Given the description of an element on the screen output the (x, y) to click on. 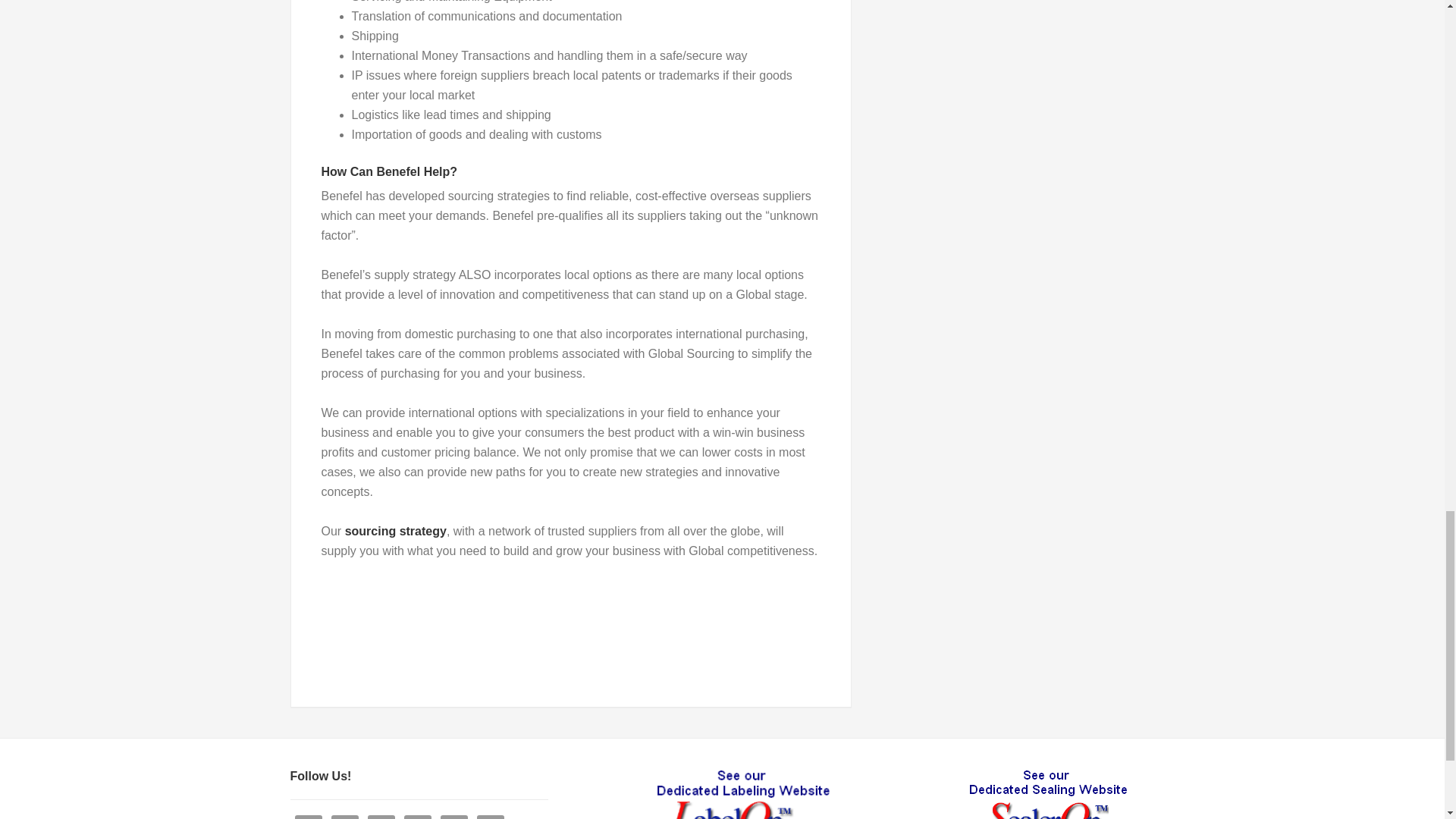
sourcing strategy (395, 530)
